Given the description of an element on the screen output the (x, y) to click on. 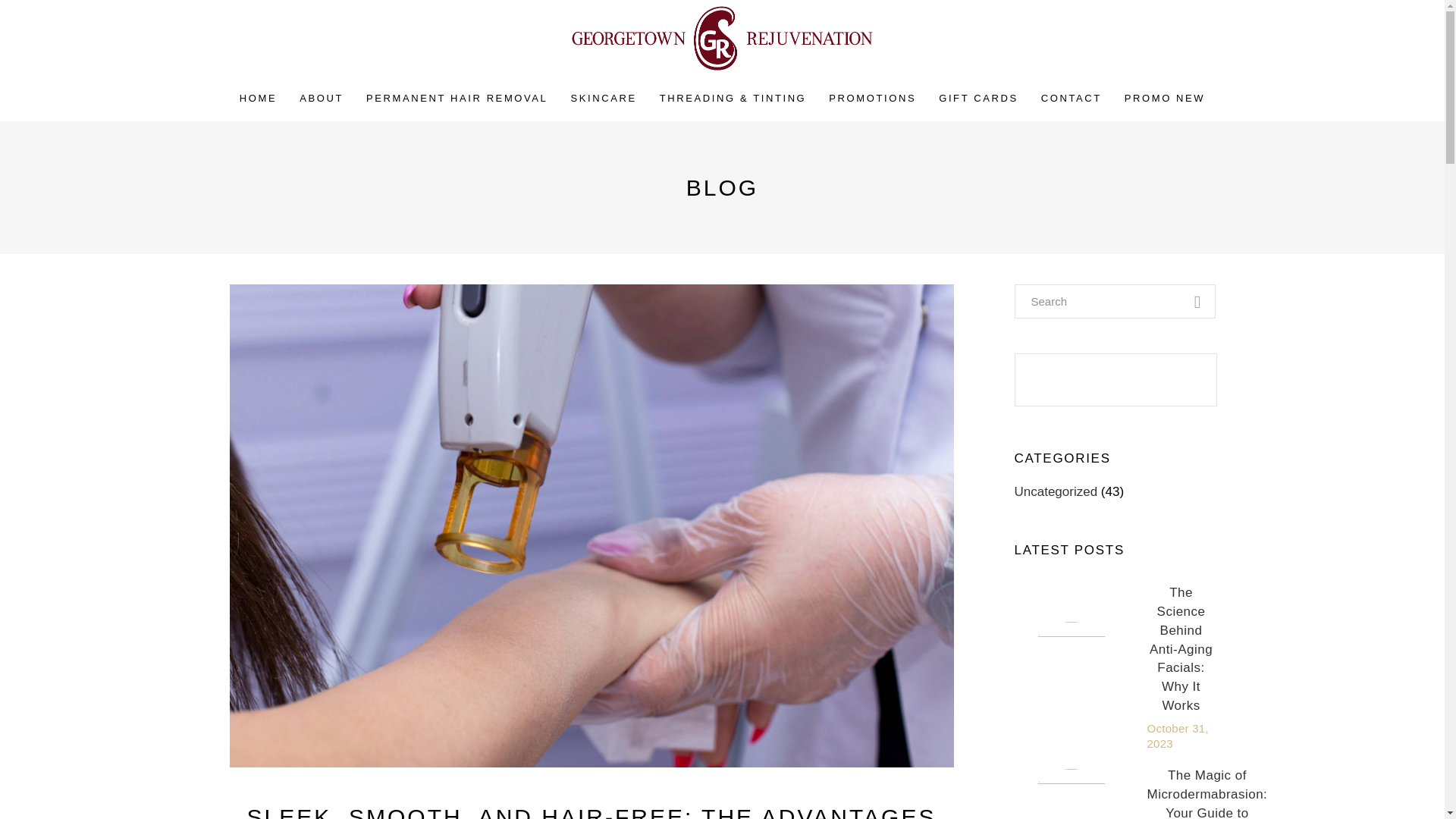
PERMANENT HAIR REMOVAL (457, 98)
SKINCARE (603, 98)
The Magic of Microdermabrasion: Your Guide to Radiant Skin (1070, 794)
CONTACT (1071, 98)
ABOUT (321, 98)
PROMOTIONS (871, 98)
The Science Behind Anti-Aging Facials: Why It Works (1070, 666)
PROMO NEW (1164, 98)
The Magic of Microdermabrasion: Your Guide to Radiant Skin (1206, 793)
Search for: (1114, 301)
